Given the description of an element on the screen output the (x, y) to click on. 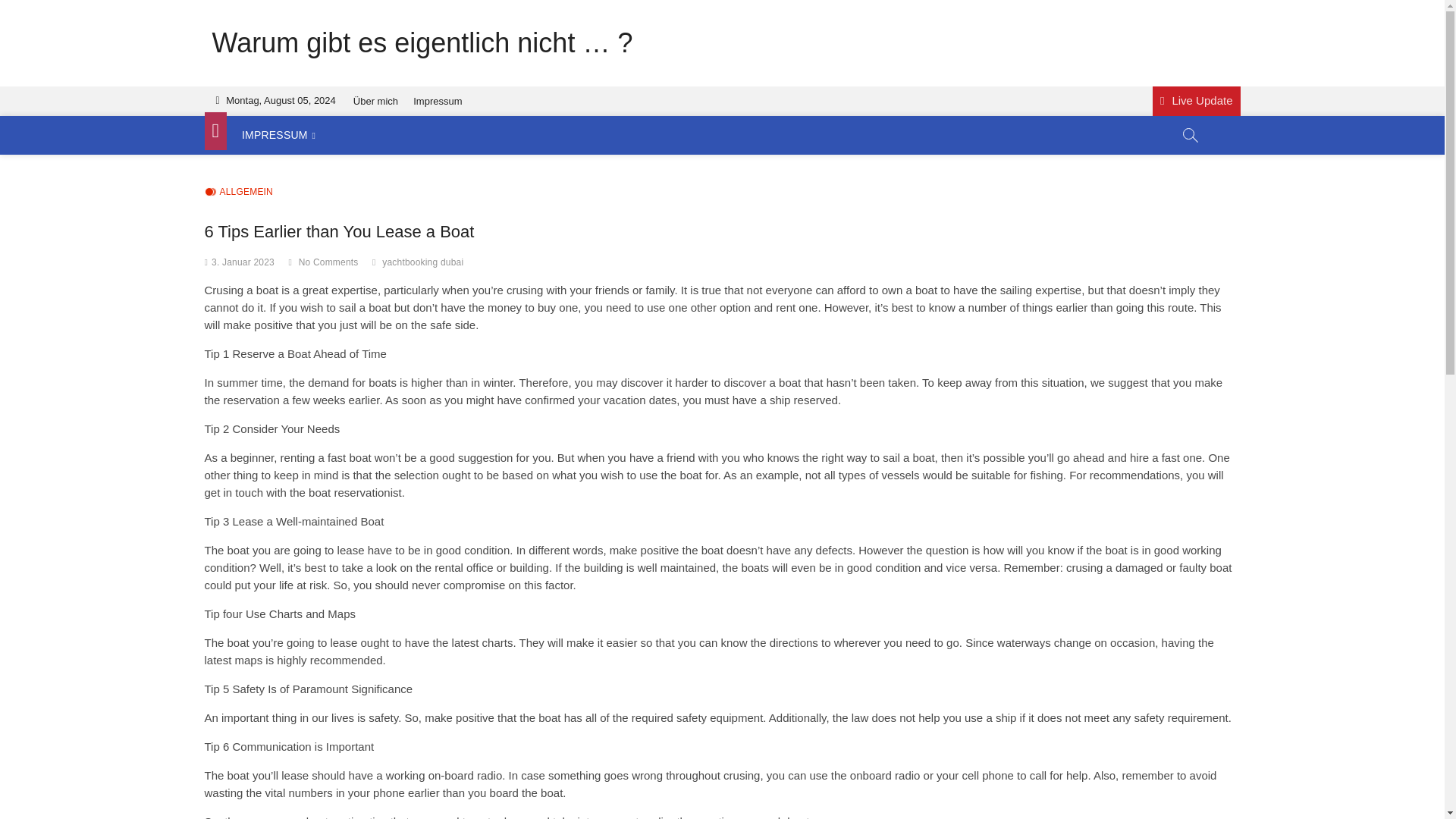
Live Update (1196, 101)
Impressum (437, 101)
yachtbooking dubai (424, 264)
IMPRESSUM (278, 135)
3. Januar 2023 (243, 262)
No Comments (328, 262)
3. Januar 2023 (243, 262)
ALLGEMEIN (239, 192)
